Given the description of an element on the screen output the (x, y) to click on. 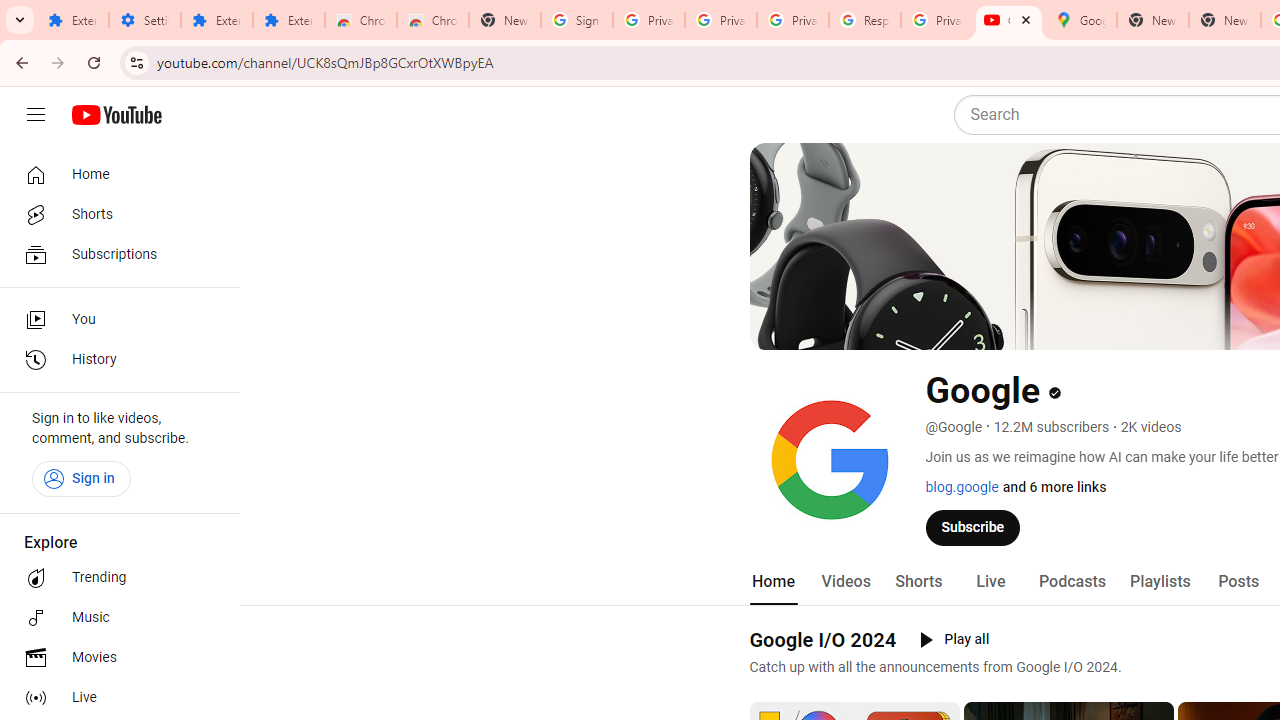
Guide (35, 115)
New Tab (504, 20)
Live (990, 581)
History (113, 359)
New Tab (1224, 20)
Google I/O 2024 (822, 639)
Movies (113, 657)
